Given the description of an element on the screen output the (x, y) to click on. 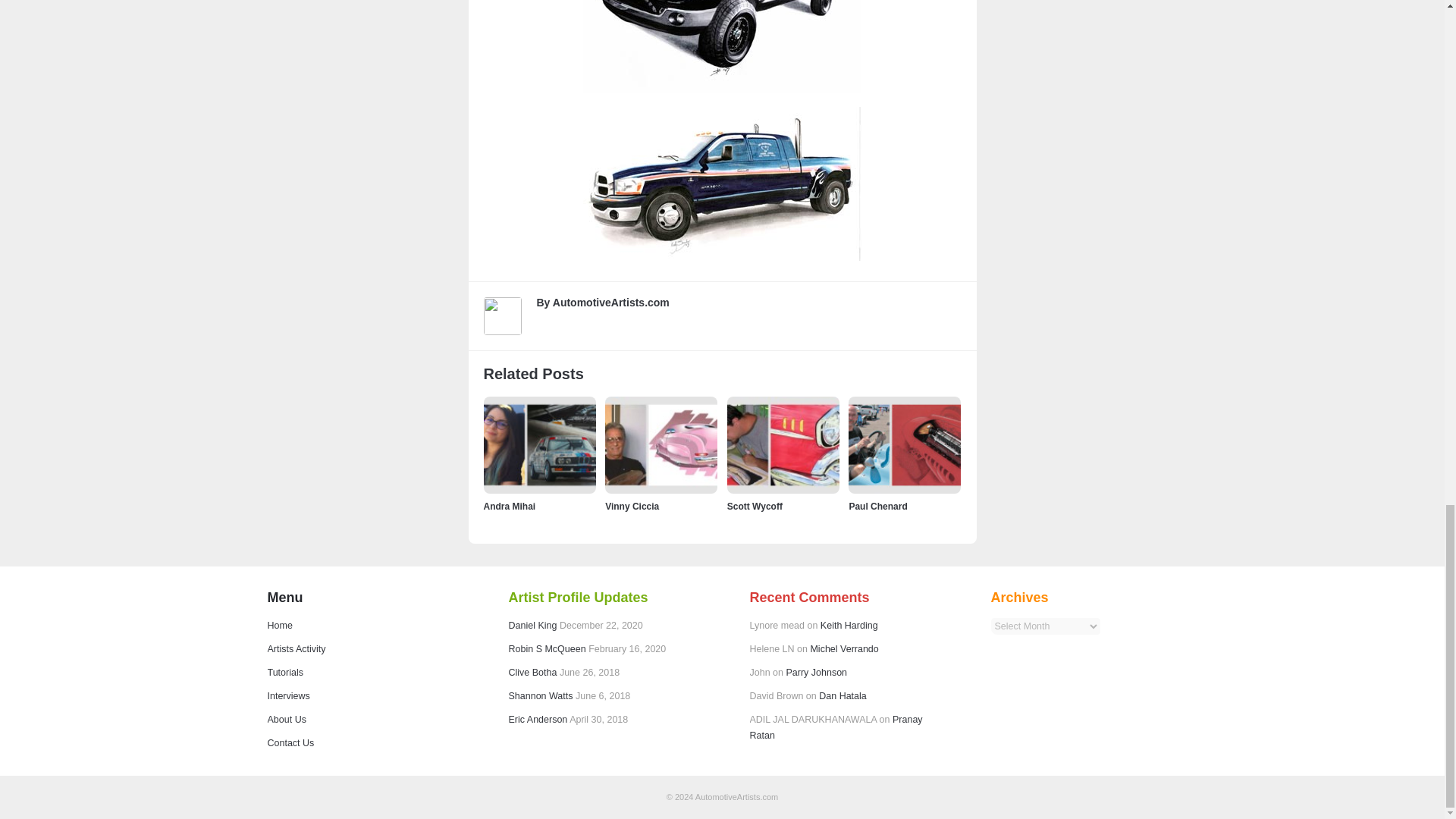
Scott Wycoff (754, 506)
AutomotiveArtists.com (611, 302)
Andra Mihai (509, 506)
Scott Wycoff (754, 506)
Paul Chenard (877, 506)
Kelly Snyder artwork (722, 184)
Vinny Ciccia (632, 506)
Kelly Snyder artwork (722, 46)
Paul Chenard (877, 506)
Vinny Ciccia (632, 506)
